Given the description of an element on the screen output the (x, y) to click on. 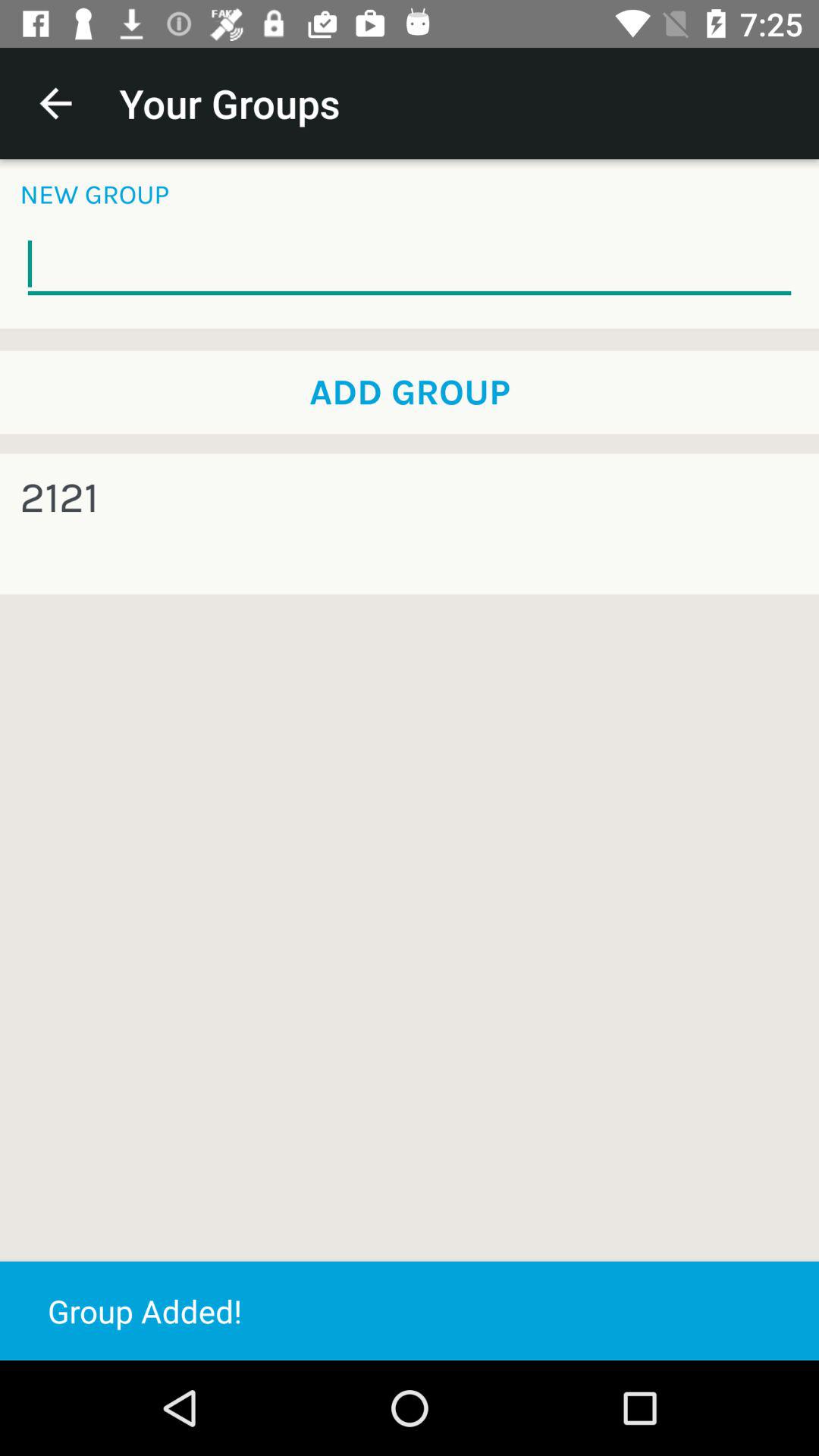
open the 2121 on the left (58, 497)
